Given the description of an element on the screen output the (x, y) to click on. 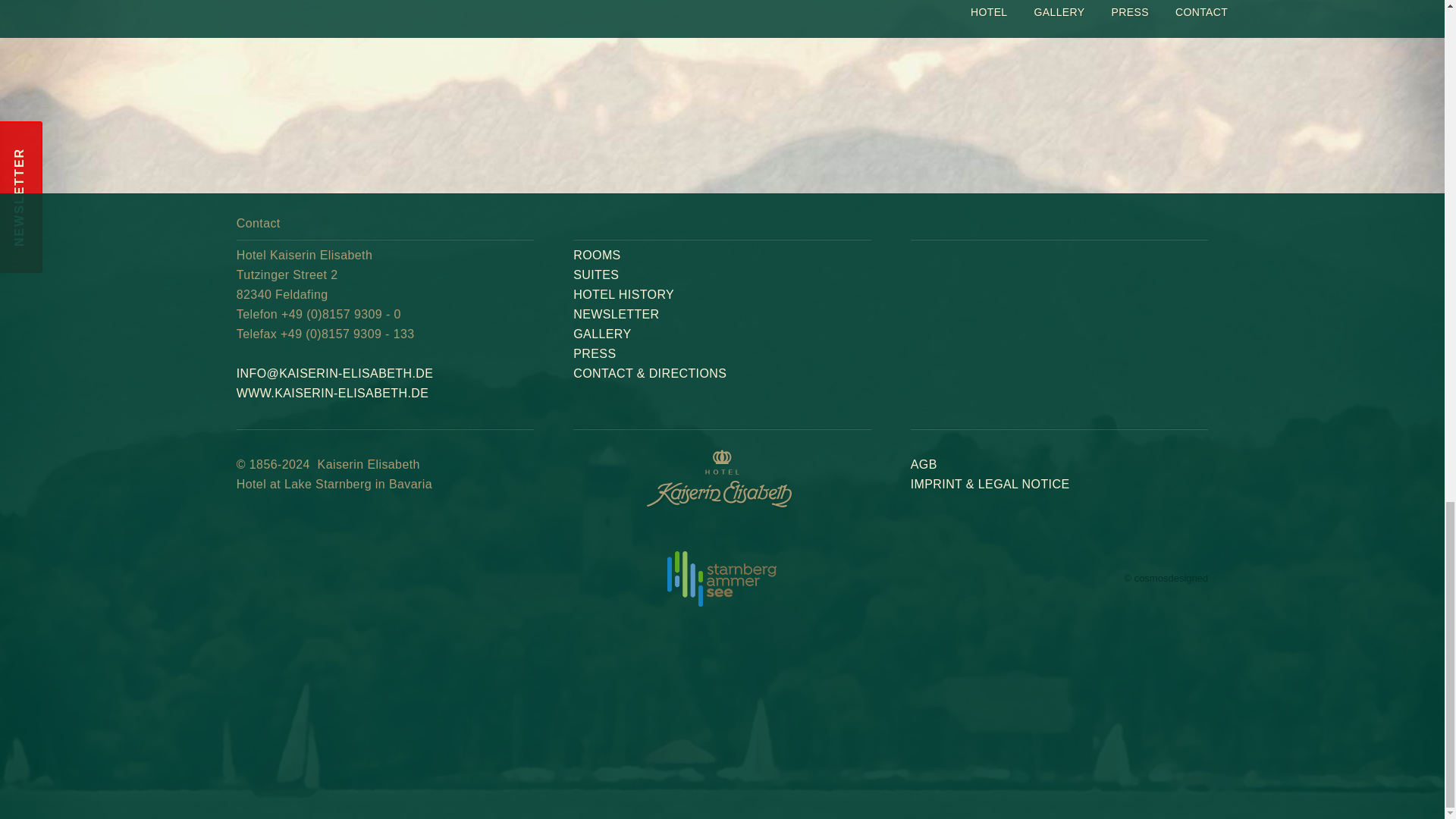
Gallery (383, 20)
WWW.KAISERIN-ELISABETH.DE (720, 20)
ROOMS (332, 392)
HOTEL HISTORY (596, 255)
Hotel at Lake Starnberg (623, 294)
SUITES (383, 20)
